Given the description of an element on the screen output the (x, y) to click on. 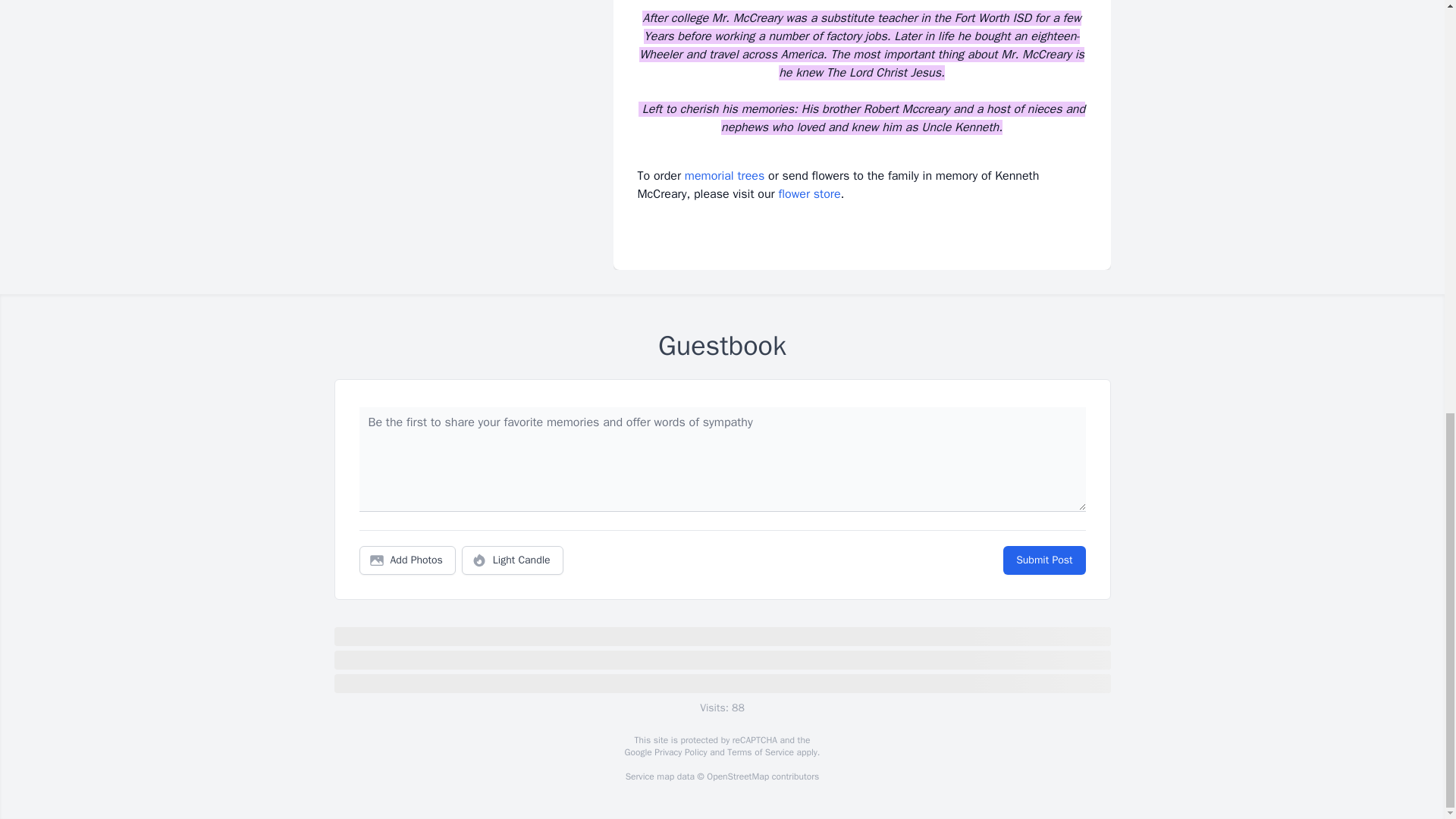
OpenStreetMap (737, 776)
Privacy Policy (679, 752)
Submit Post (1043, 560)
Light Candle (512, 560)
Add Photos (407, 560)
Terms of Service (759, 752)
memorial trees (724, 175)
flower store (808, 193)
